Given the description of an element on the screen output the (x, y) to click on. 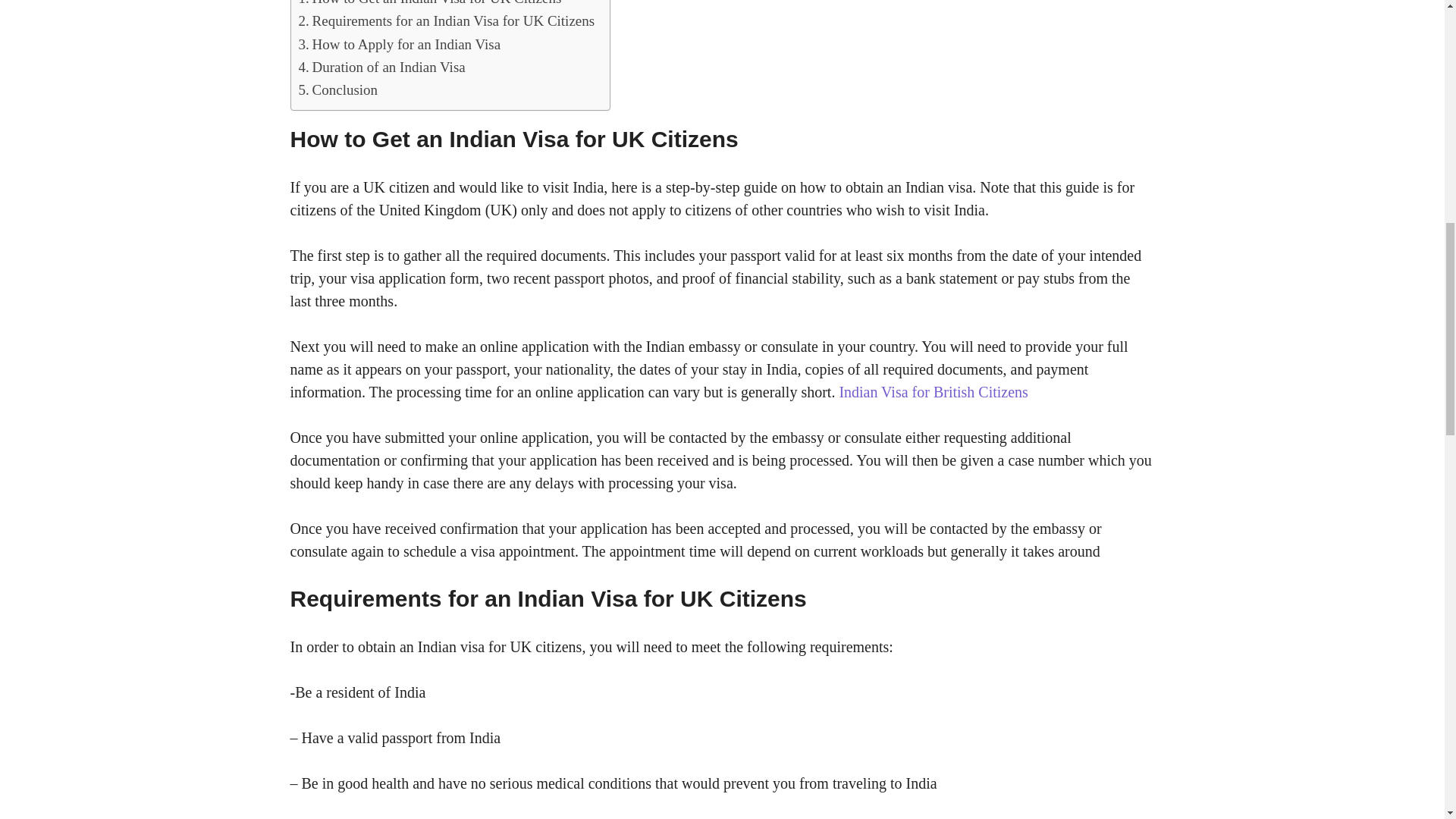
How to Get an Indian Visa for UK Citizens (430, 4)
Duration of an Indian Visa (381, 67)
Indian Visa for British Citizens (932, 392)
Conclusion (338, 89)
Requirements for an Indian Visa for UK Citizens (446, 20)
How to Apply for an Indian Visa (399, 44)
Duration of an Indian Visa (381, 67)
Requirements for an Indian Visa for UK Citizens (446, 20)
Conclusion (338, 89)
How to Get an Indian Visa for UK Citizens (430, 4)
How to Apply for an Indian Visa (399, 44)
